Given the description of an element on the screen output the (x, y) to click on. 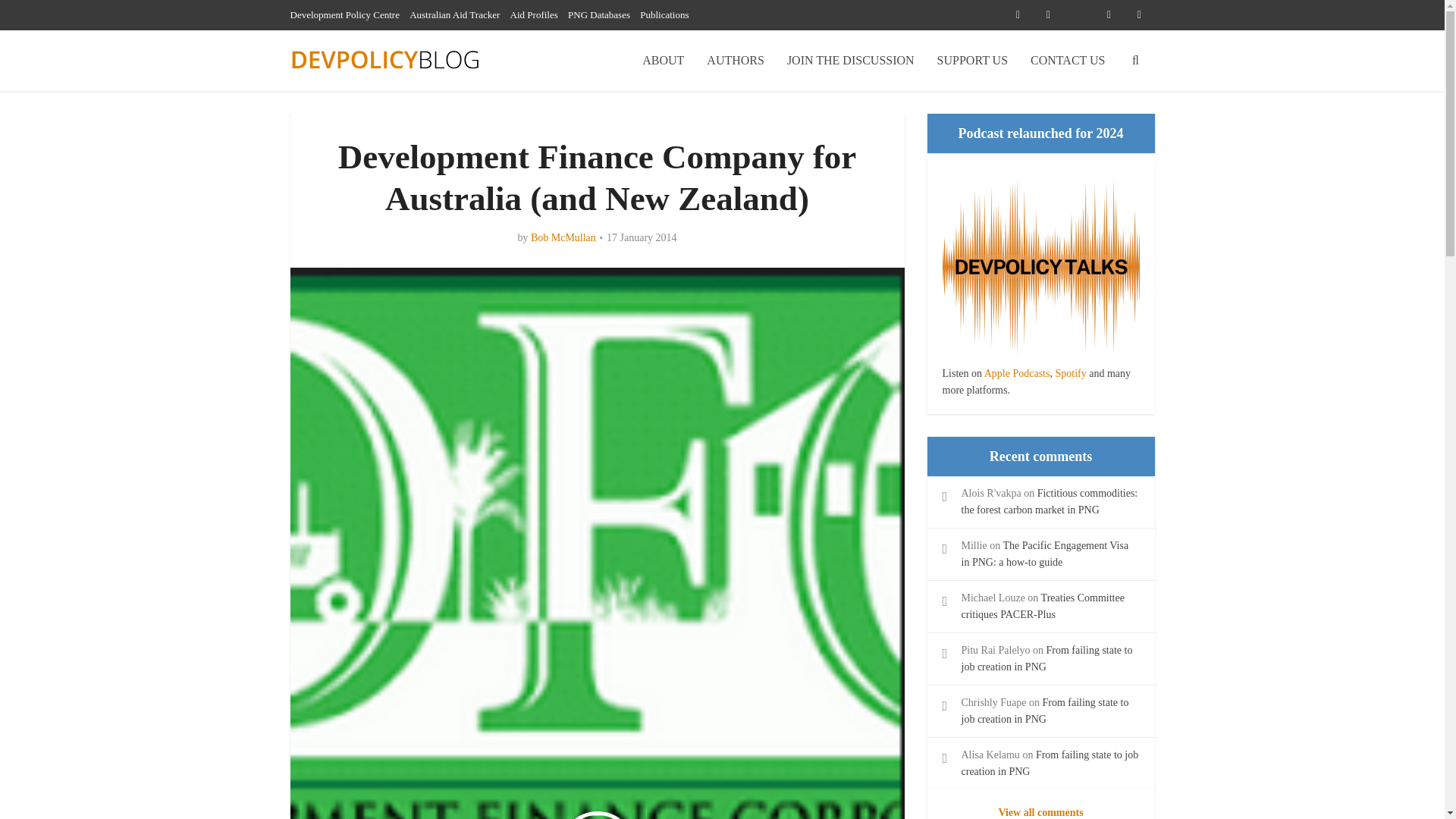
JOIN THE DISCUSSION (851, 60)
ABOUT (662, 60)
PNG Databases (598, 14)
Bob McMullan (563, 237)
AUTHORS (735, 60)
Publications (664, 14)
Development Policy Centre (343, 14)
SUPPORT US (972, 60)
CONTACT US (1067, 60)
Australian Aid Tracker (454, 14)
